Given the description of an element on the screen output the (x, y) to click on. 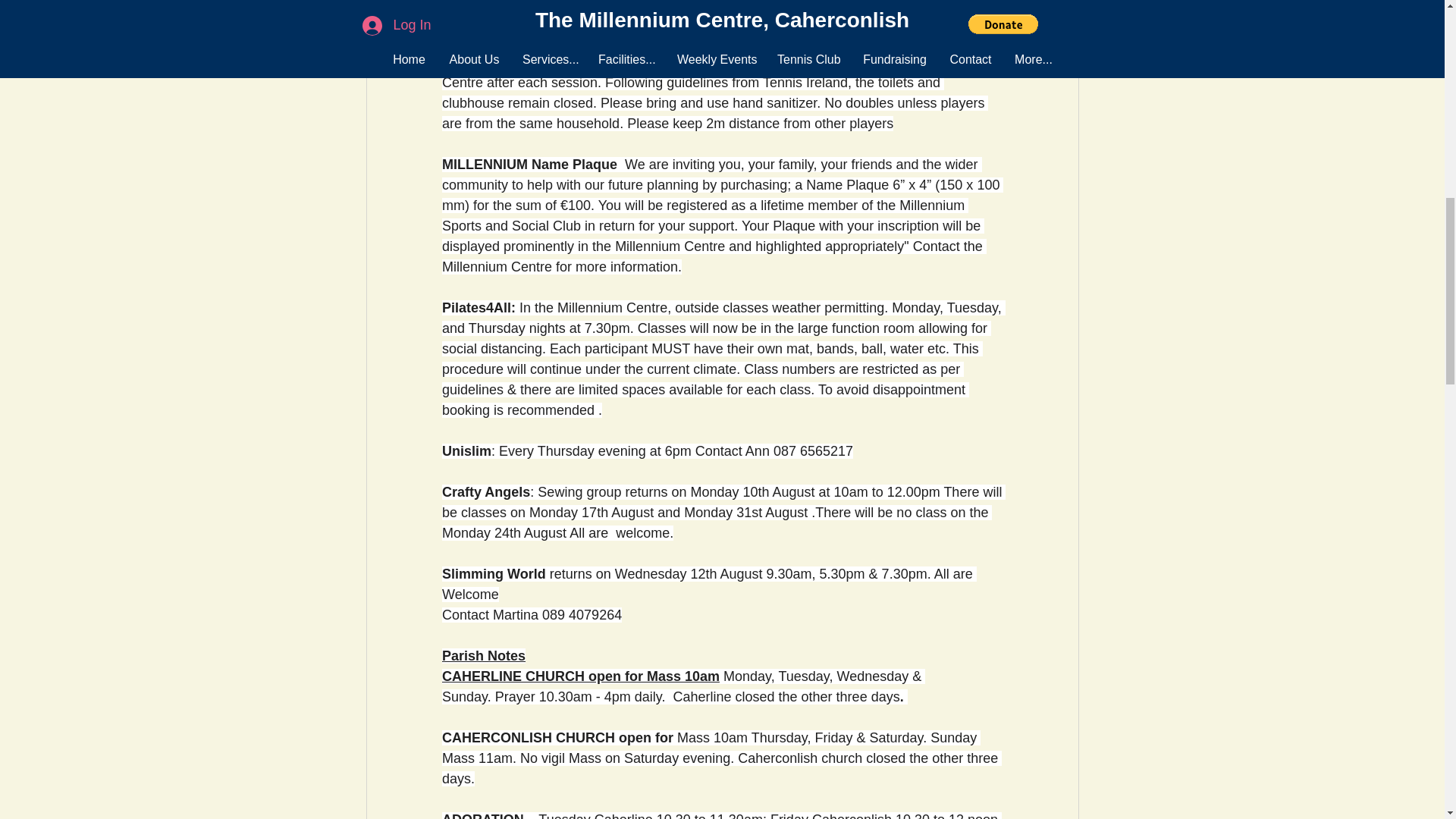
CAHERLINE CHURCH open for Mass 10am (580, 676)
